Given the description of an element on the screen output the (x, y) to click on. 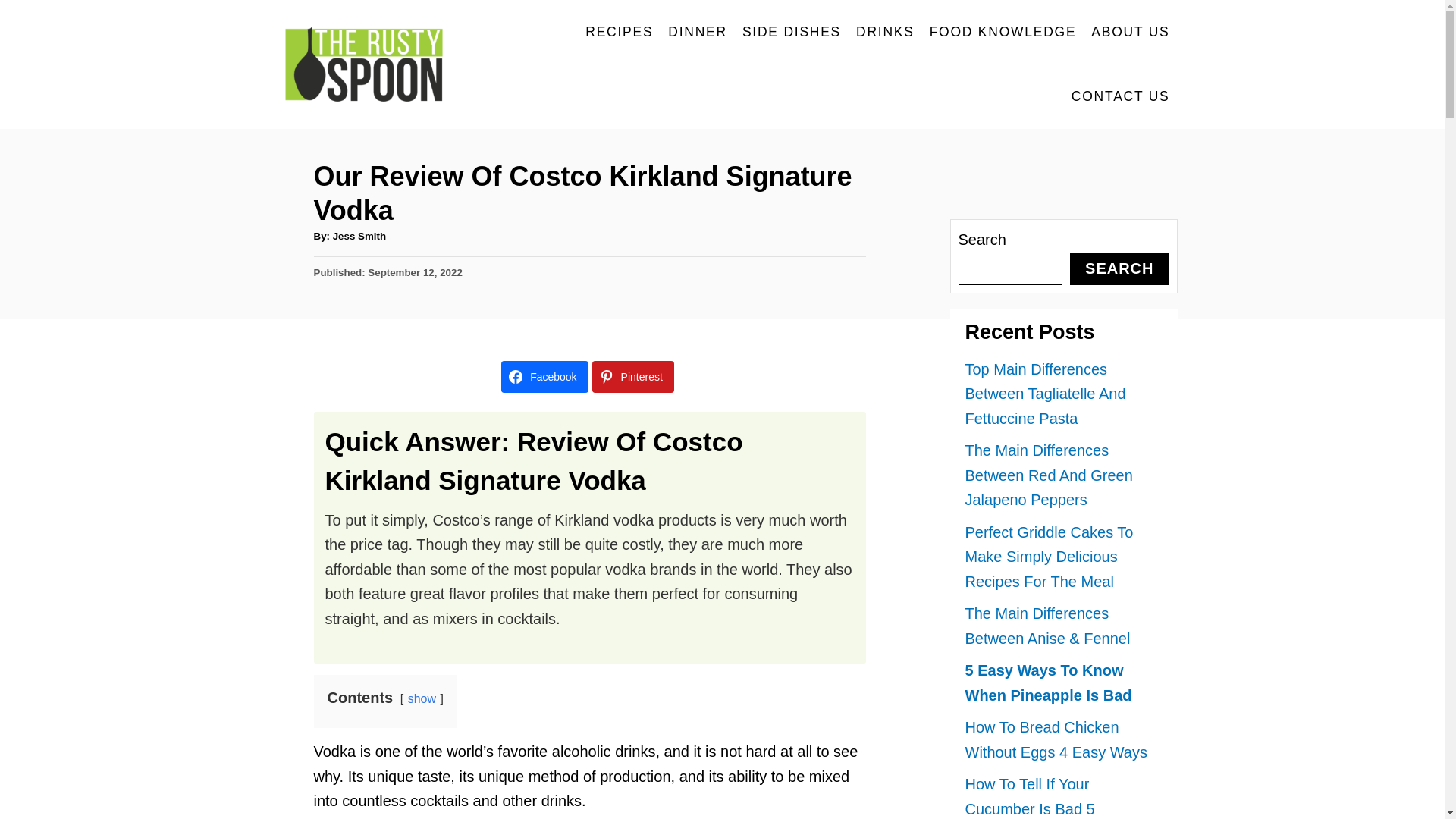
DINNER (698, 32)
DRINKS (884, 32)
Share on Facebook (544, 377)
SIDE DISHES (791, 32)
FOOD KNOWLEDGE (1002, 32)
Share on Pinterest (633, 377)
RECIPES (619, 32)
The Rusty Spoon (371, 64)
